Given the description of an element on the screen output the (x, y) to click on. 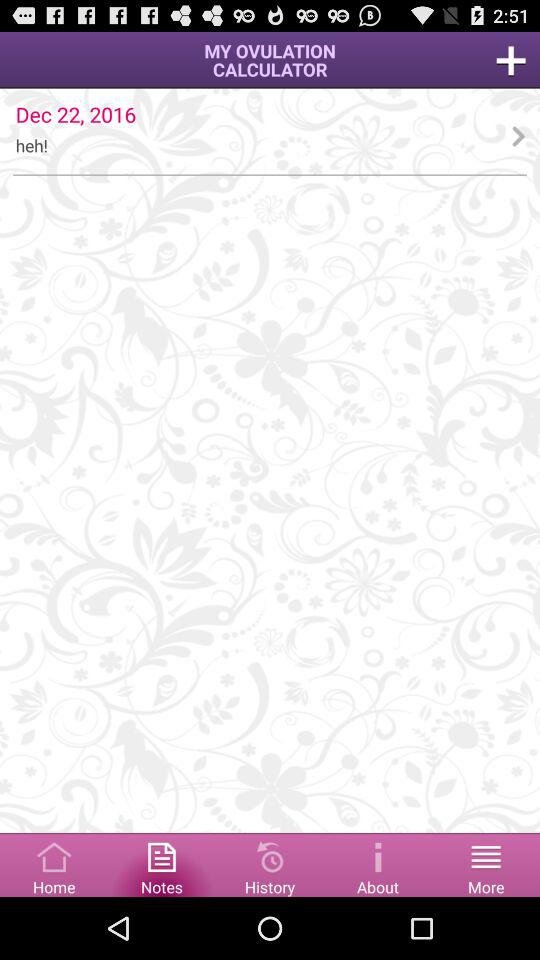
menu bar option (486, 864)
